Given the description of an element on the screen output the (x, y) to click on. 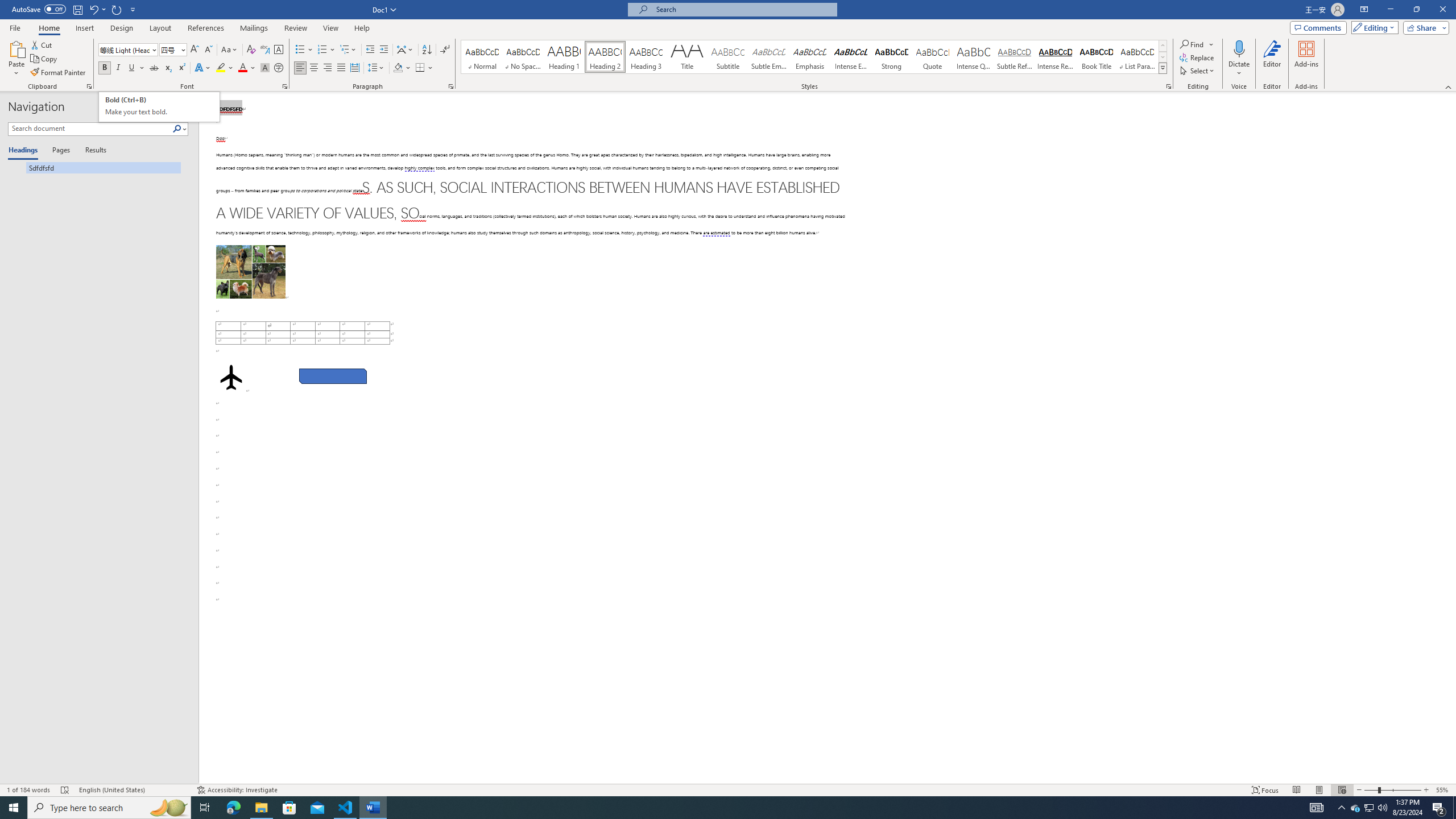
Text Effects and Typography (202, 67)
Heading 2 (605, 56)
Language English (United States) (132, 790)
Class: NetUIScrollBar (1450, 437)
Quote (932, 56)
Format Painter (58, 72)
Shading RGB(0, 0, 0) (397, 67)
Zoom Out (1370, 790)
Font... (285, 85)
Layout (160, 28)
Multilevel List (347, 49)
Class: NetUIImage (1162, 68)
